Given the description of an element on the screen output the (x, y) to click on. 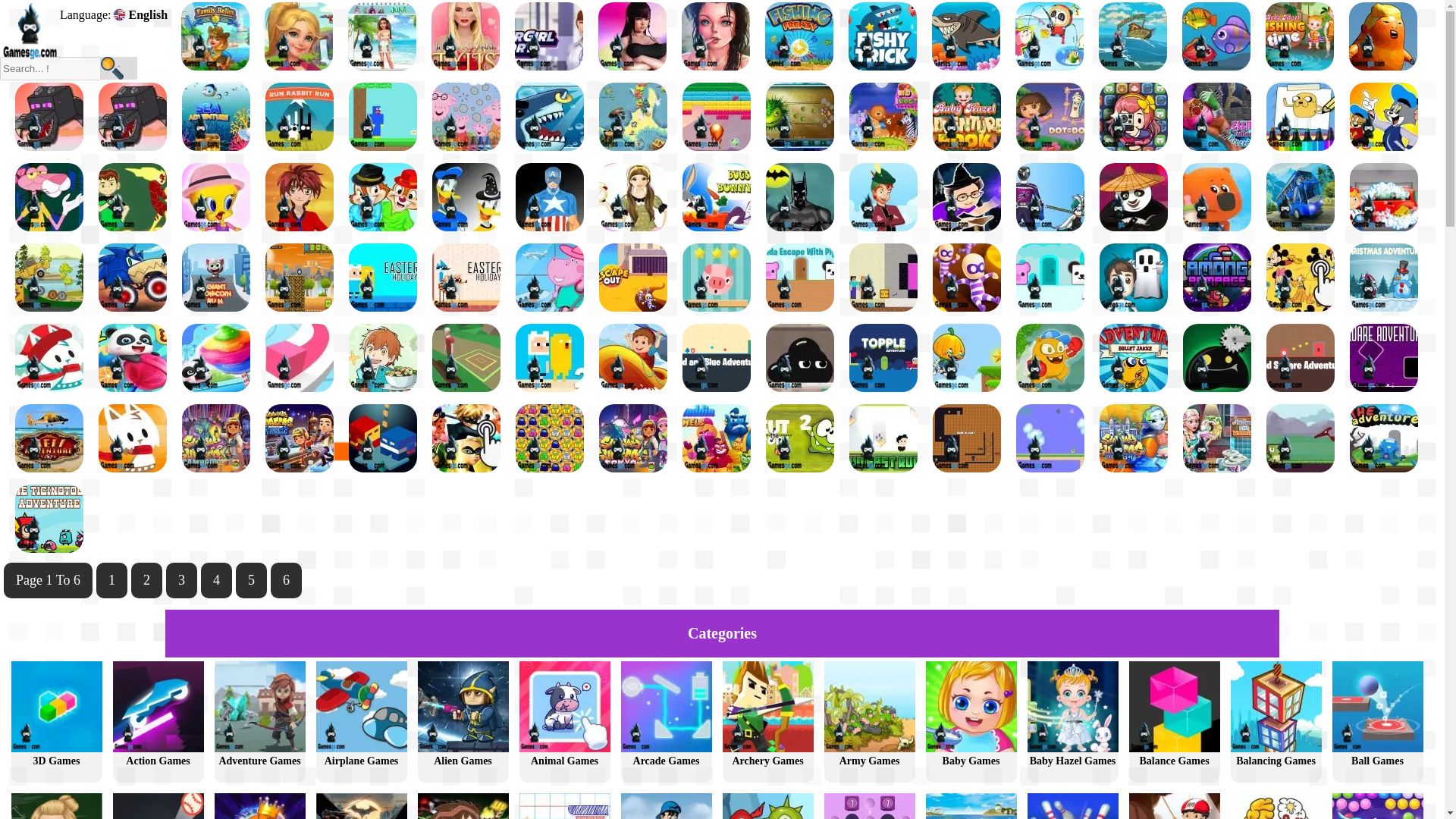
Anime Avatar: Make Your Own Anime Avatar (632, 37)
Tropical Merge (298, 36)
Fish Hunter (798, 36)
Tropical Merge (298, 37)
- (118, 67)
Fishy trick (882, 37)
Year Round Fashionista Curly (381, 37)
Family Relics (214, 36)
Kawaii ANIME Avatar Dress Up (715, 37)
Family Relics (214, 37)
